Given the description of an element on the screen output the (x, y) to click on. 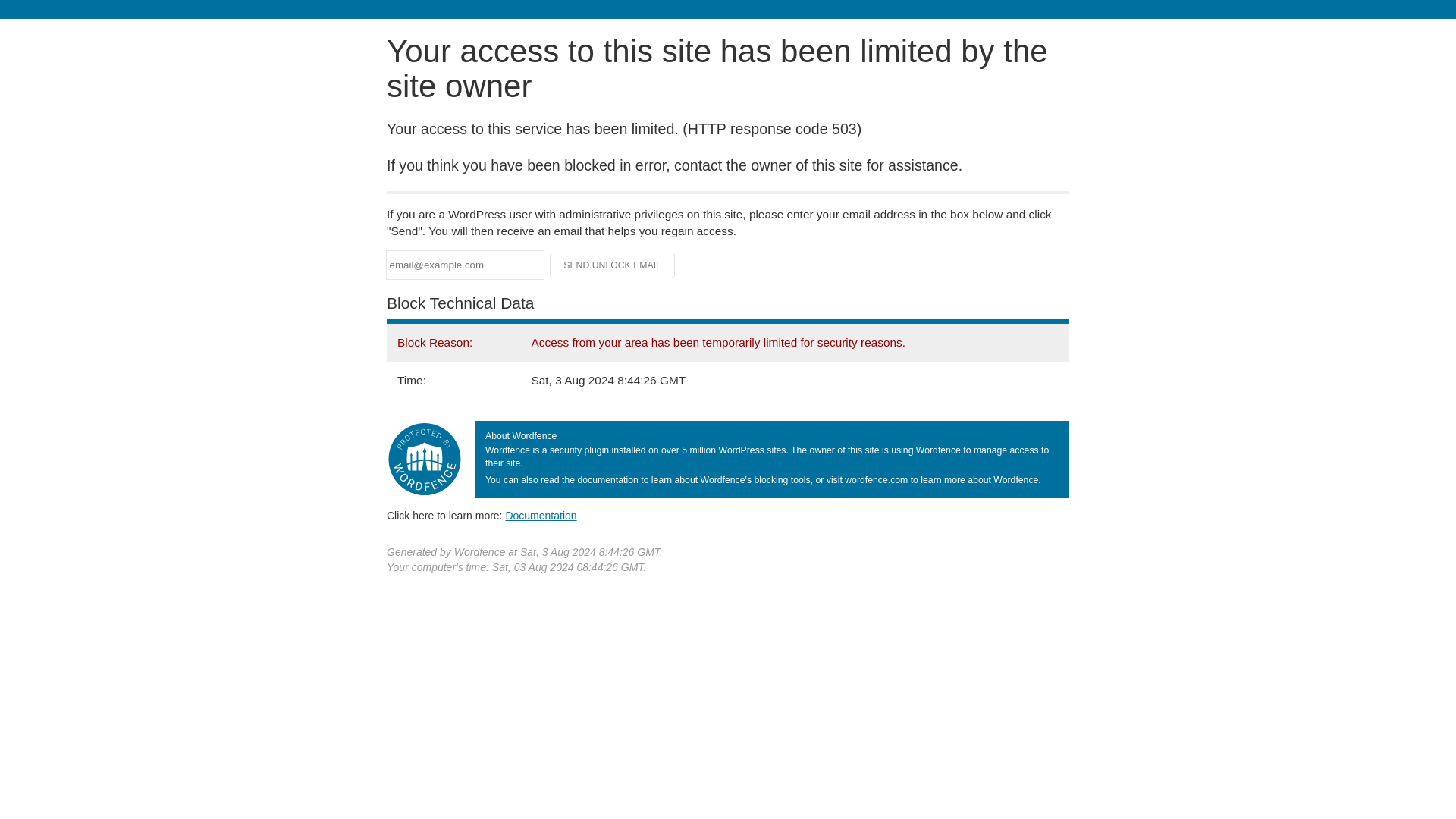
Send Unlock Email (612, 265)
Documentation (540, 515)
Send Unlock Email (612, 265)
